Given the description of an element on the screen output the (x, y) to click on. 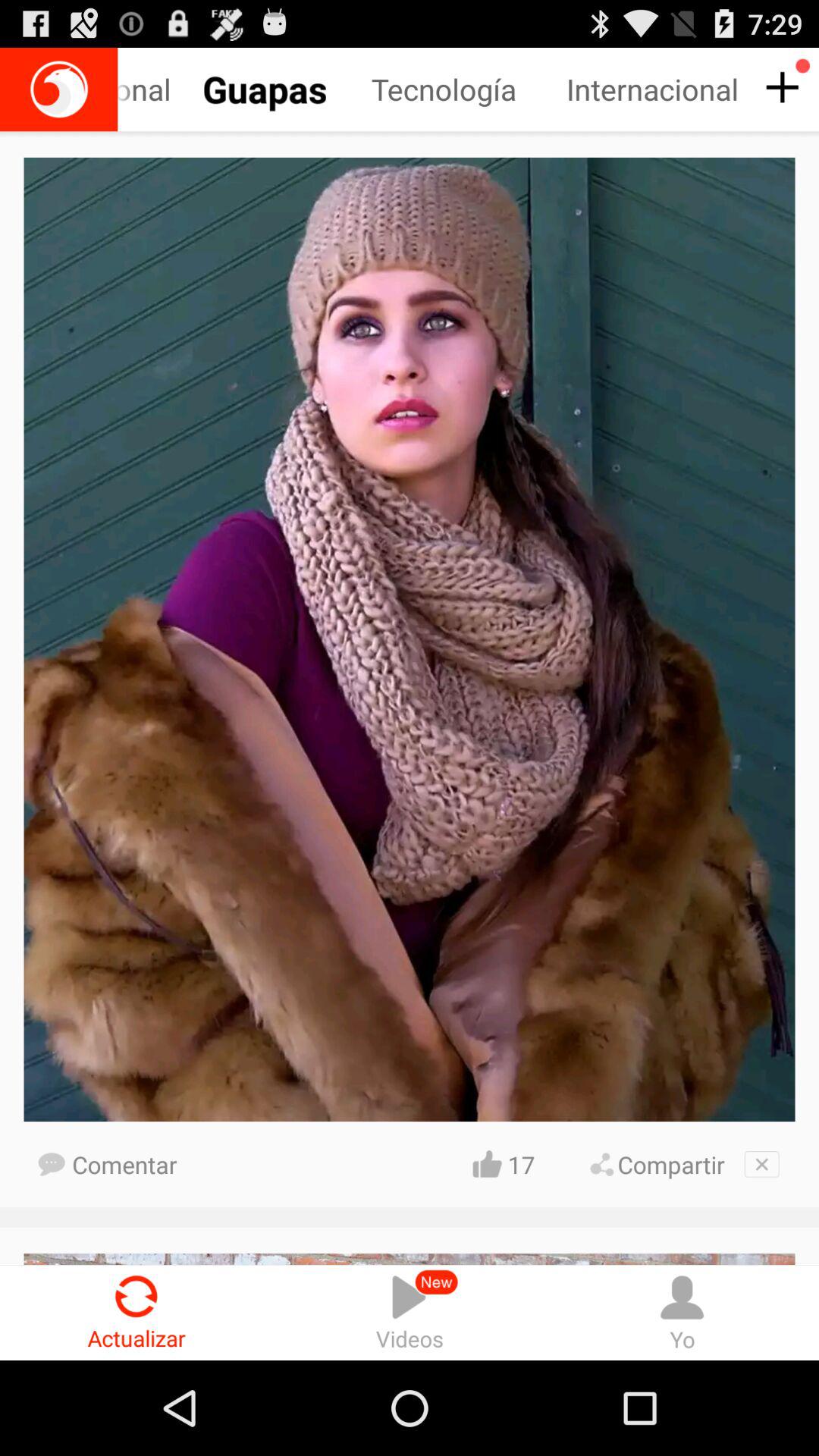
close out (761, 1164)
